Given the description of an element on the screen output the (x, y) to click on. 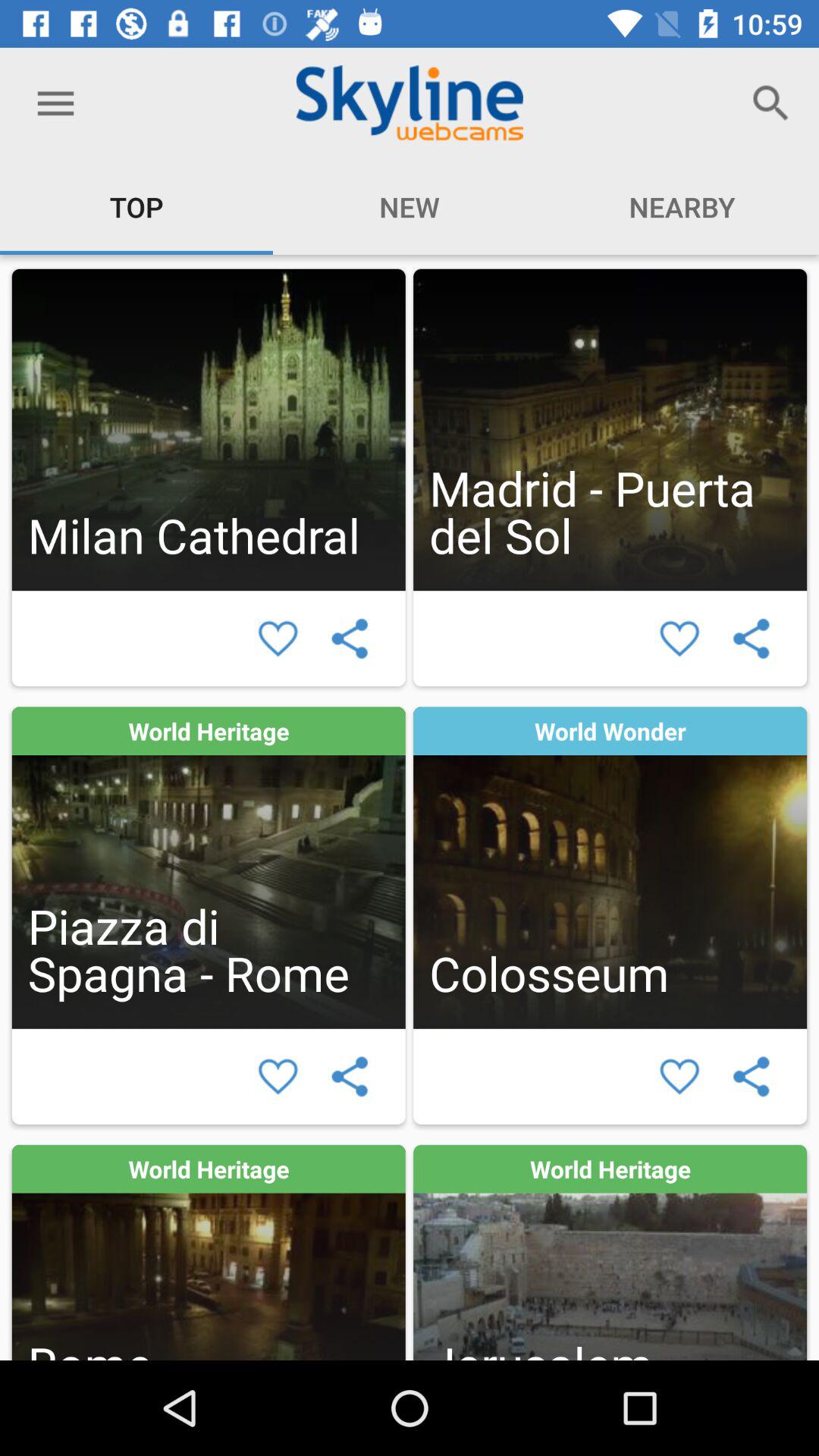
add to favorites (278, 1076)
